Given the description of an element on the screen output the (x, y) to click on. 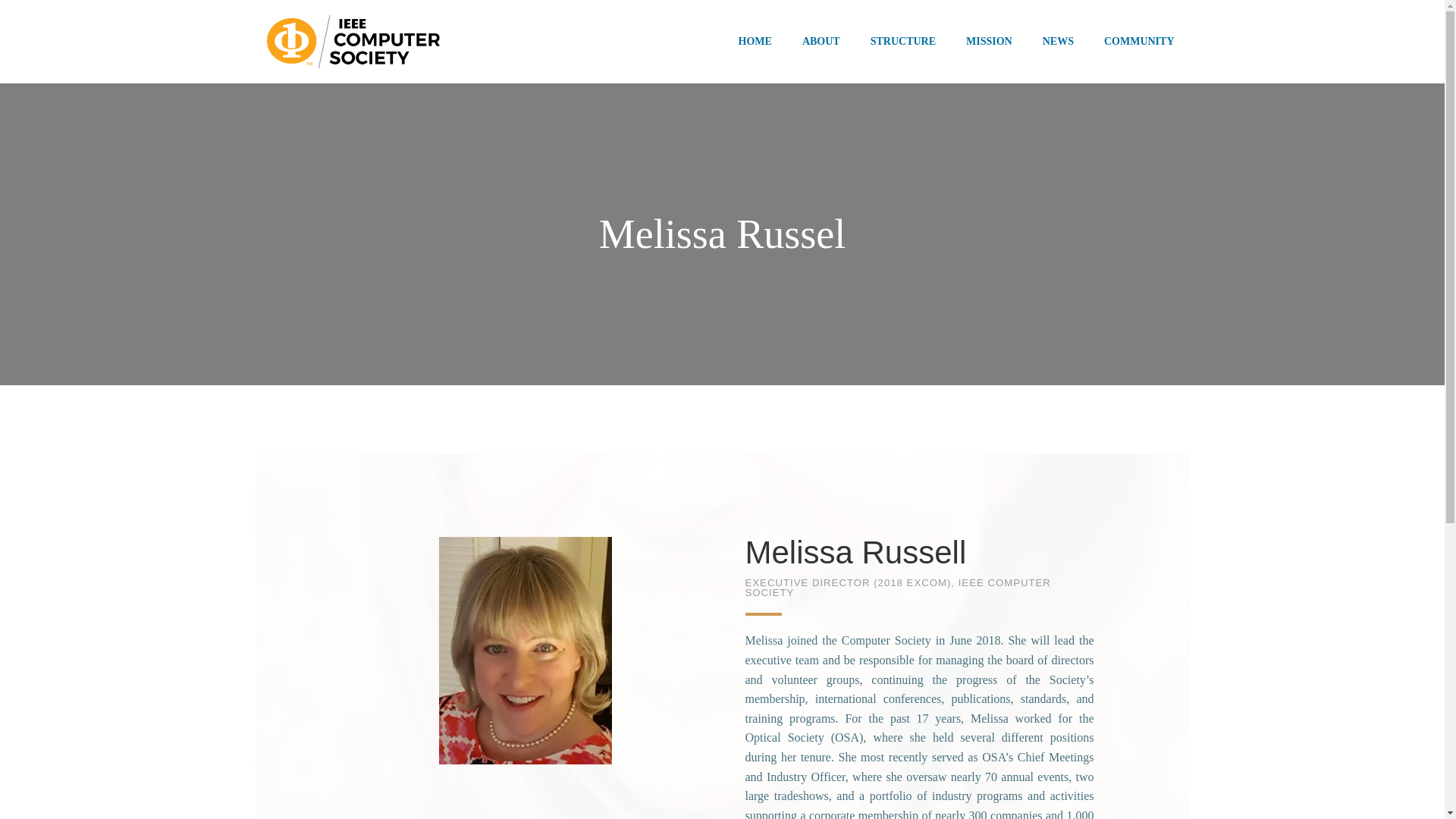
STRUCTURE (903, 41)
COMMUNITY (1138, 41)
Colibri (988, 727)
HOME (754, 41)
NEWS (1058, 41)
MISSION (988, 41)
ABOUT (821, 41)
